Given the description of an element on the screen output the (x, y) to click on. 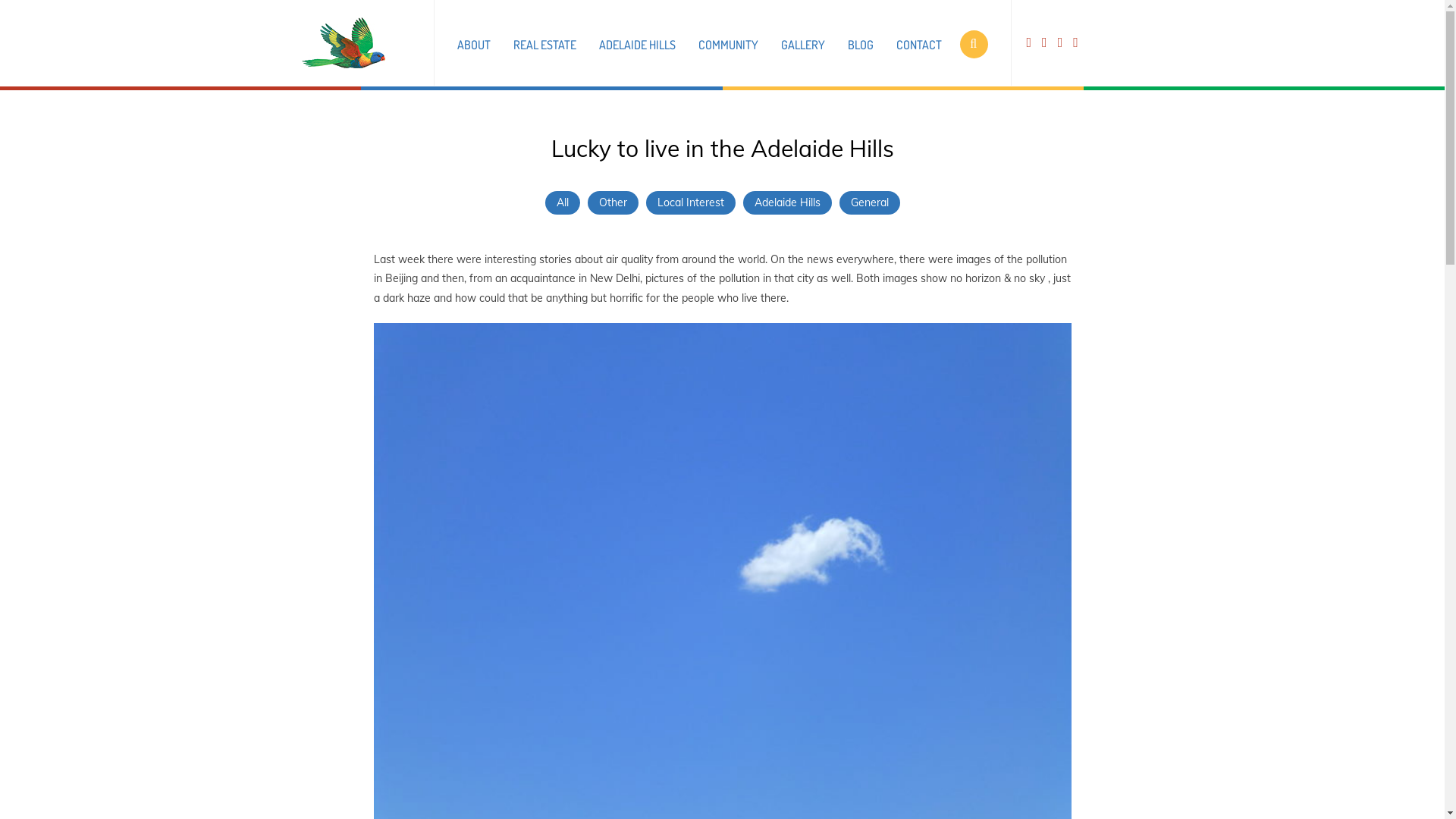
Adelaide Hills Element type: text (786, 202)
Other Element type: text (613, 202)
ADELAIDE HILLS Element type: text (637, 46)
All Element type: text (562, 202)
GALLERY Element type: text (803, 46)
Local Interest Element type: text (689, 202)
REAL ESTATE Element type: text (543, 46)
BLOG Element type: text (860, 46)
COMMUNITY Element type: text (727, 46)
General Element type: text (869, 202)
ABOUT Element type: text (472, 46)
CONTACT Element type: text (918, 46)
